Given the description of an element on the screen output the (x, y) to click on. 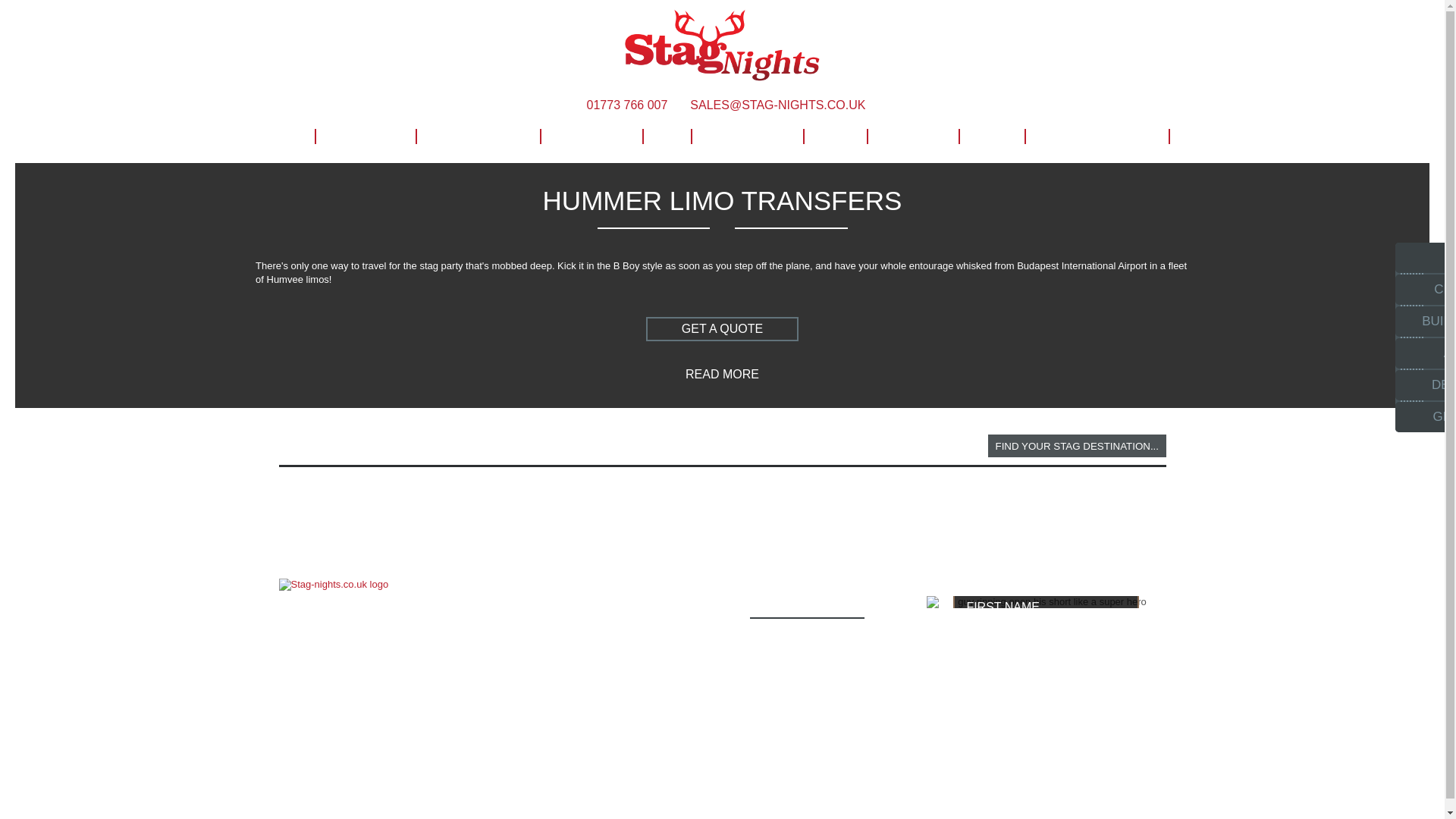
EUROPEAN (591, 136)
HOME (280, 136)
DESTINATIONS (477, 136)
ACTIVITIES (364, 136)
01773 766 007 (623, 104)
